Given the description of an element on the screen output the (x, y) to click on. 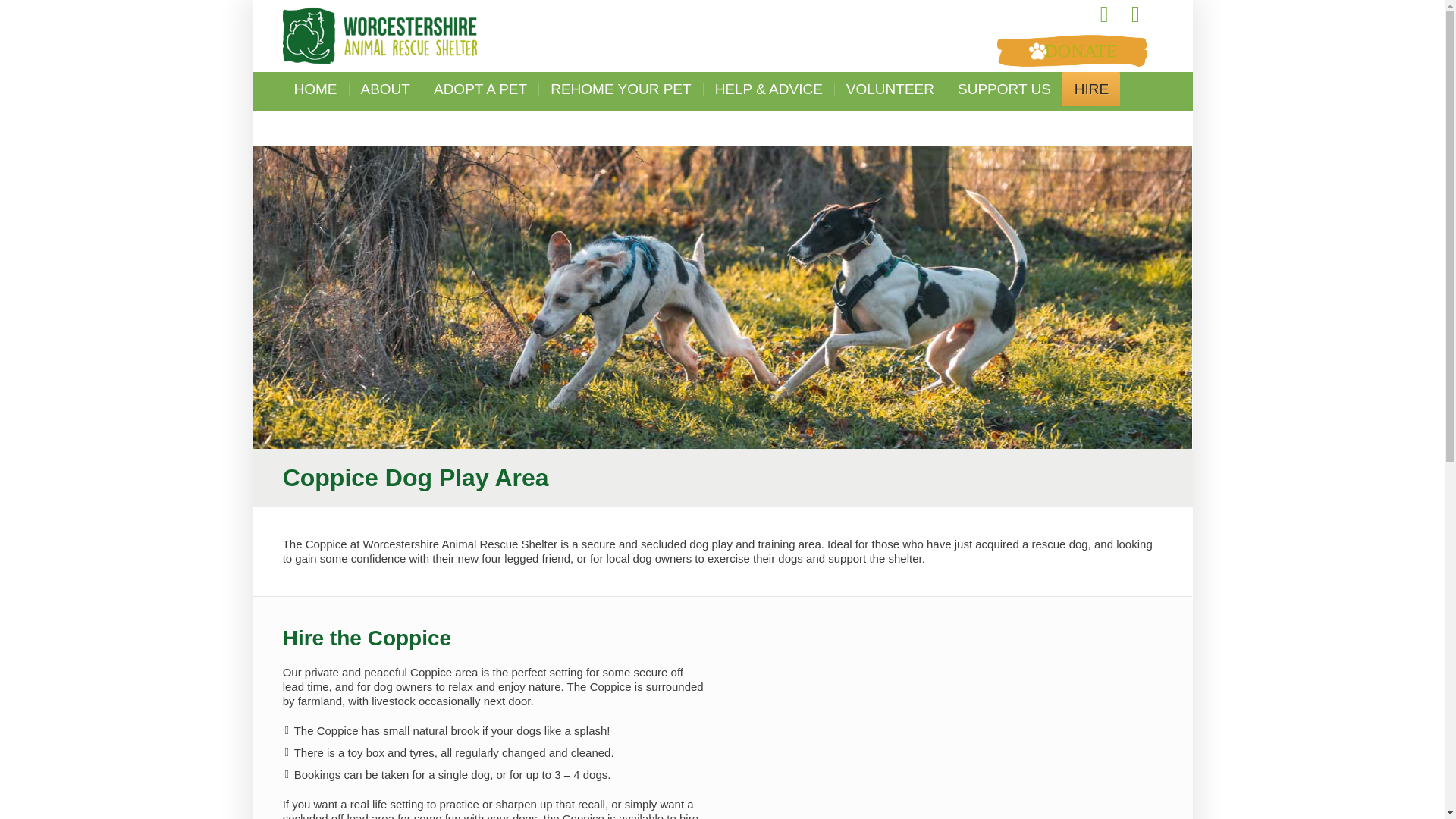
HOME (314, 89)
SUPPORT US (1003, 89)
VOLUNTEER (889, 89)
ABOUT (385, 89)
Facebook (1104, 14)
REHOME YOUR PET (619, 89)
ADOPT A PET (480, 89)
DONATE (1071, 50)
Instagram (1135, 14)
